Given the description of an element on the screen output the (x, y) to click on. 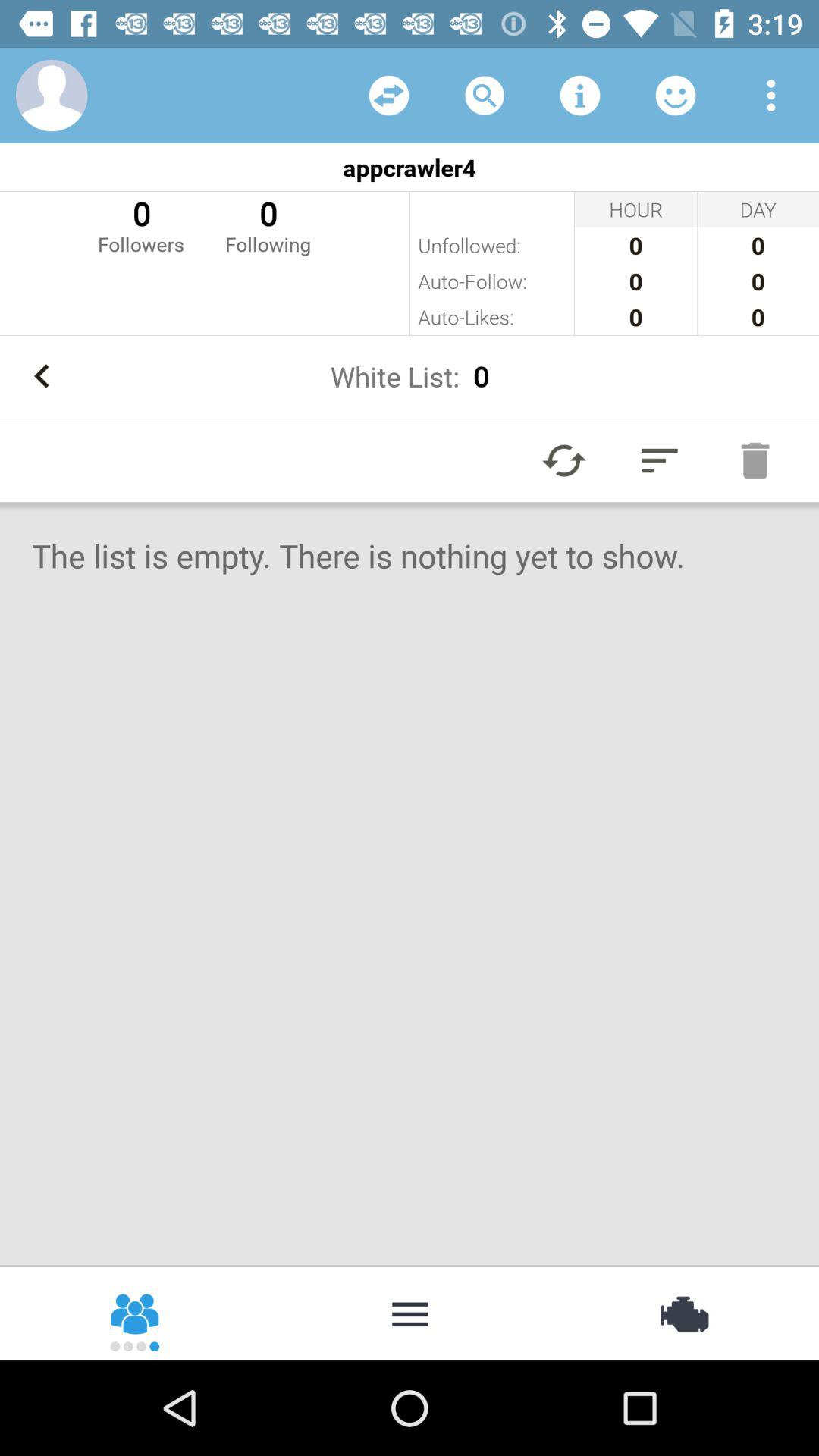
remove from list (755, 460)
